Given the description of an element on the screen output the (x, y) to click on. 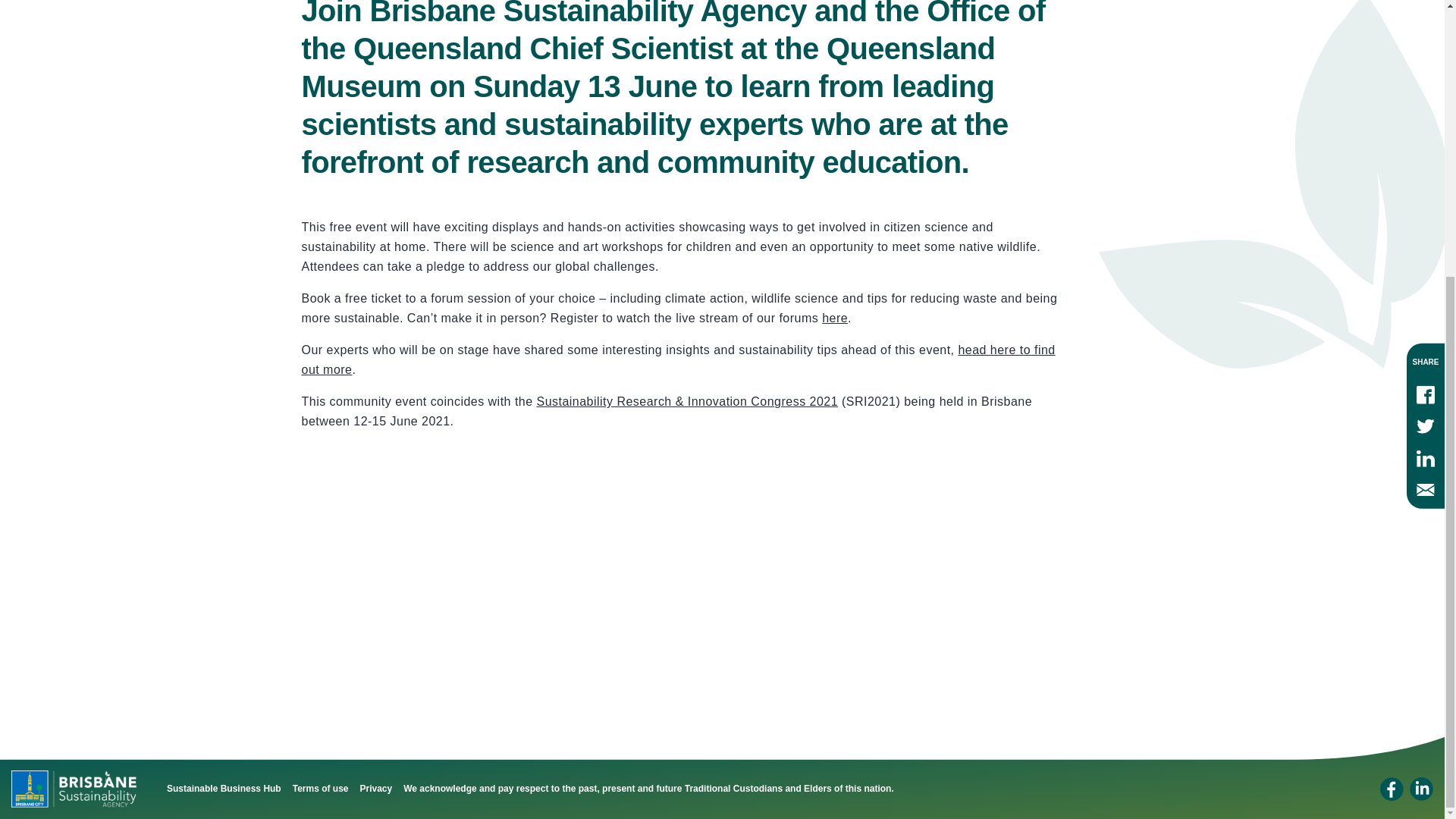
Back to news (377, 545)
here (834, 318)
Privacy (376, 787)
head here to find out more (678, 359)
Sustainable Business Hub (224, 787)
Terms of use (320, 787)
